Given the description of an element on the screen output the (x, y) to click on. 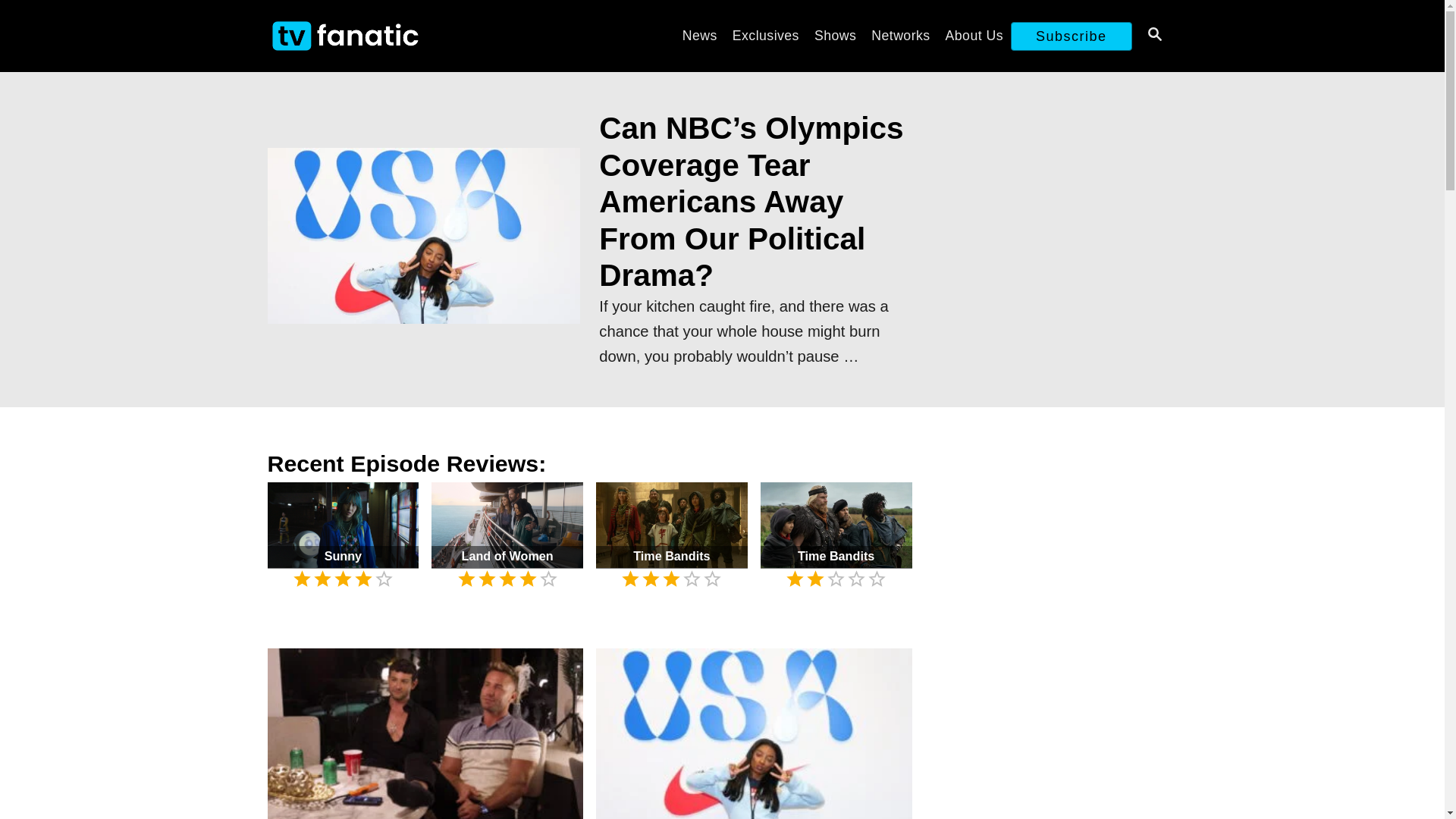
News (700, 35)
Networks (900, 35)
SEARCH (1153, 35)
TV Fanatic (403, 36)
Shows (834, 35)
Exclusives (765, 35)
